Given the description of an element on the screen output the (x, y) to click on. 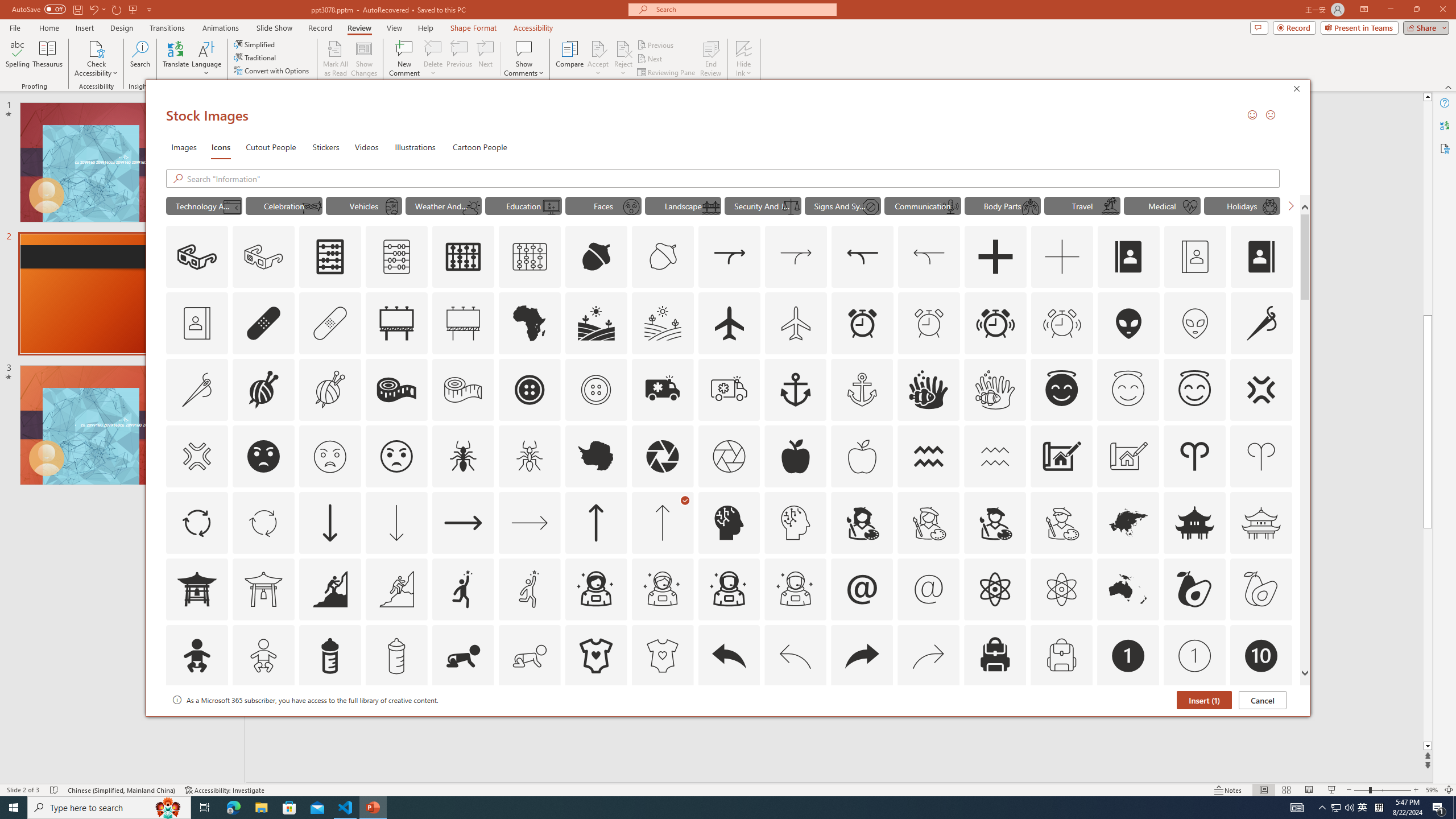
AutomationID: Icons_Anchor_M (861, 389)
AutomationID: Icons_ArrowUp (595, 522)
AutomationID: Icons_Badge10_M (196, 721)
Send a Smile (1251, 114)
AutomationID: Icons_Badge6_M (861, 721)
AutomationID: Icons_ArtificialIntelligence_M (795, 522)
AutomationID: Icons_AdhesiveBandage_M (330, 323)
